Given the description of an element on the screen output the (x, y) to click on. 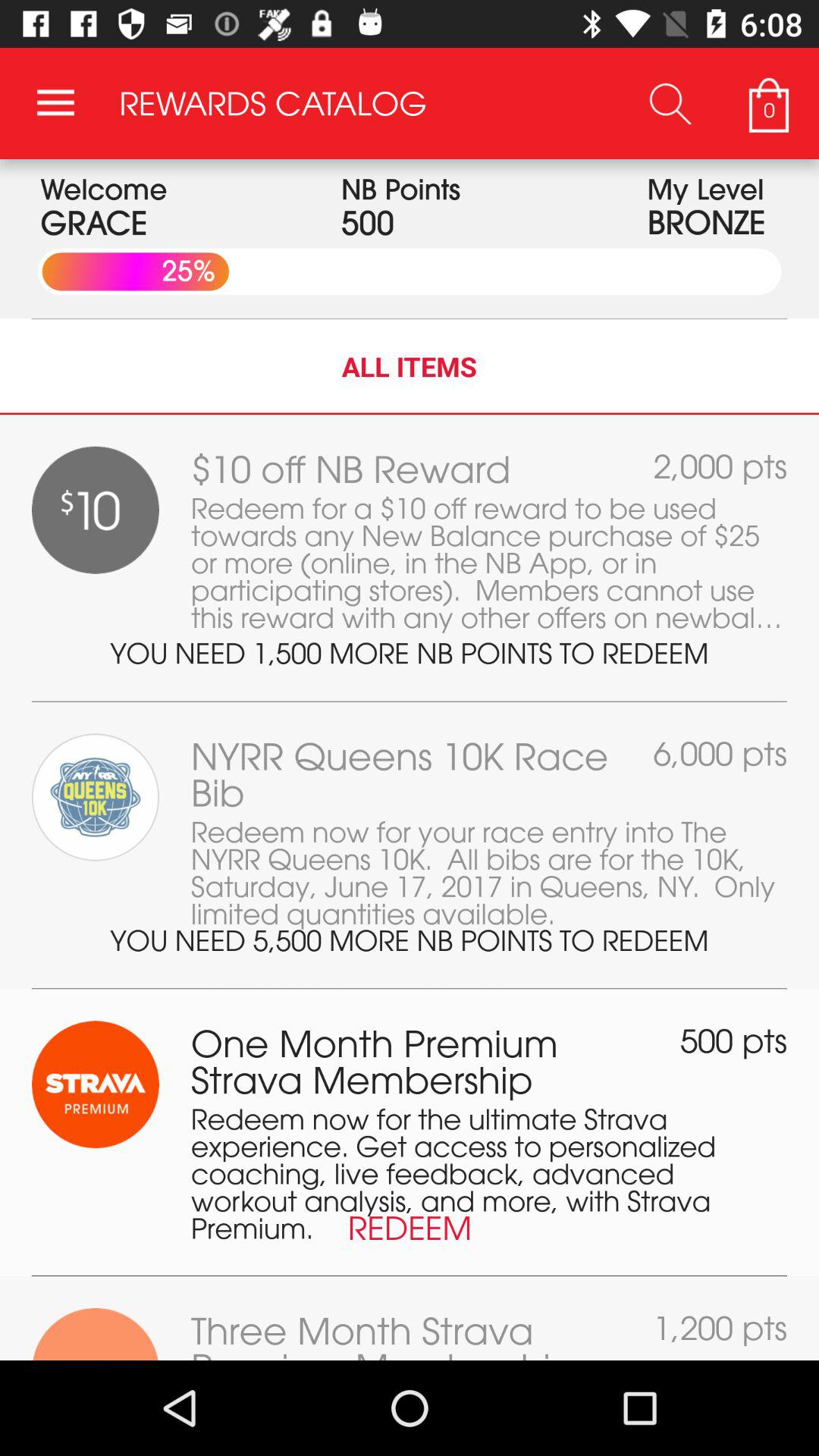
click 500 pts item (733, 1040)
